Given the description of an element on the screen output the (x, y) to click on. 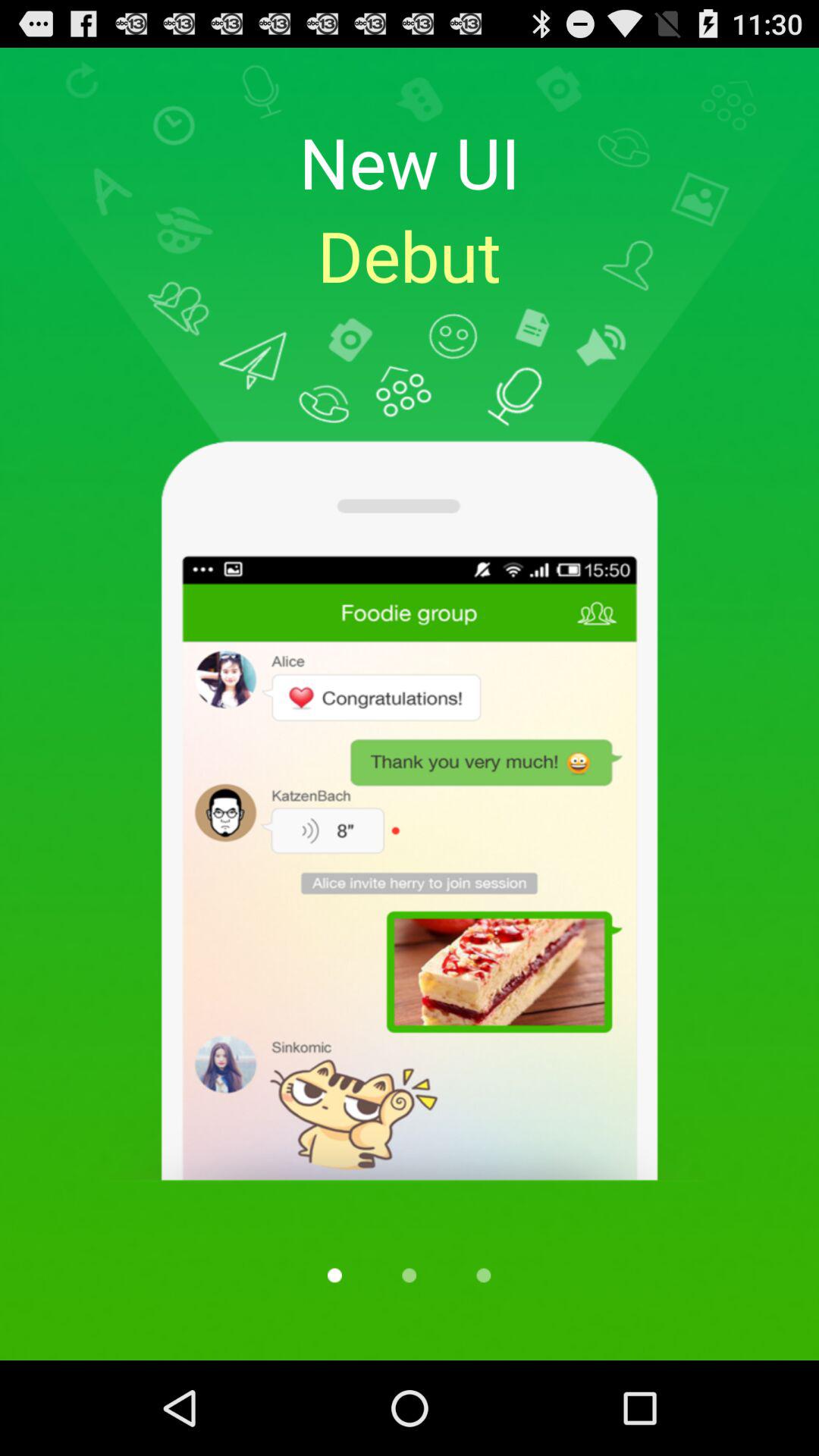
see second image of slider (408, 1275)
